Given the description of an element on the screen output the (x, y) to click on. 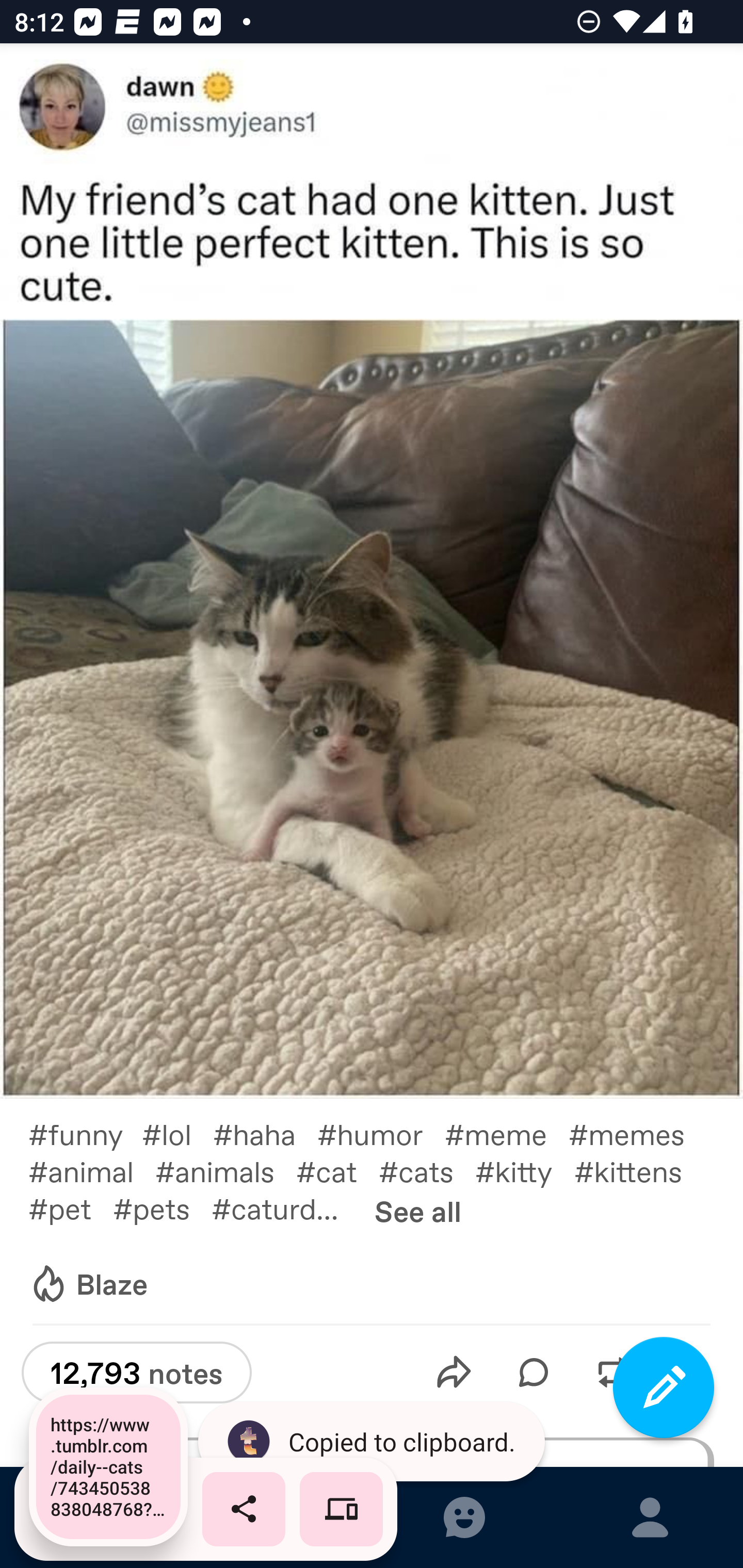
#funny (84, 1133)
#lol (177, 1133)
#haha (265, 1133)
#humor (381, 1133)
#meme (506, 1133)
#memes (637, 1133)
#animal (91, 1171)
#animals (225, 1171)
#cat (337, 1171)
#cats (426, 1171)
#kitty (524, 1171)
#kittens (638, 1171)
#pet (70, 1208)
#pets (161, 1208)
#caturd… (285, 1208)
See all (417, 1211)
Blaze Blaze Blaze (88, 1283)
Share post to message (454, 1371)
Reply (533, 1371)
Compose a new post (663, 1387)
12,793 notes (136, 1372)
MESSAGES (464, 1517)
ACCOUNT (650, 1517)
